Given the description of an element on the screen output the (x, y) to click on. 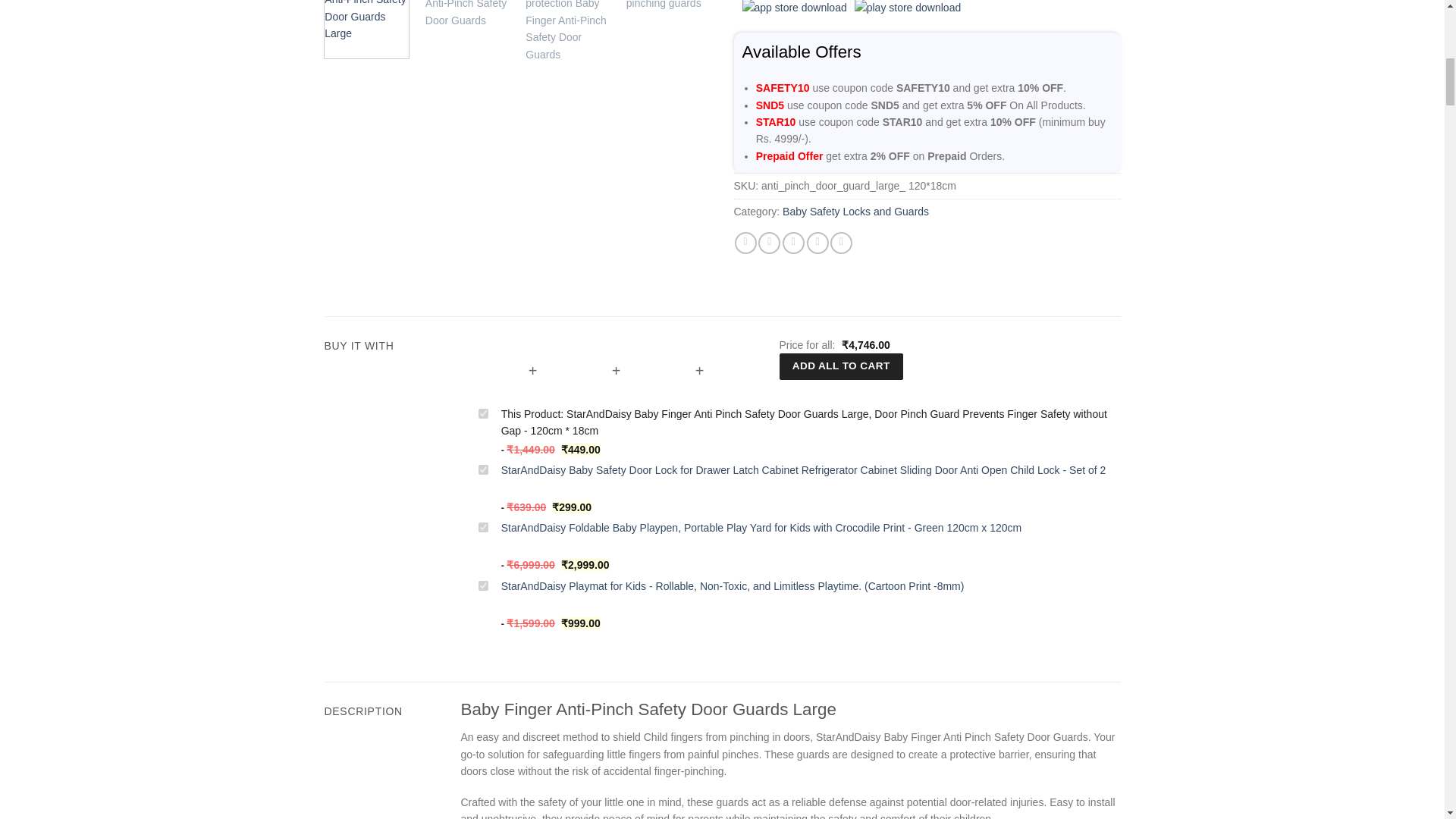
Pin on Pinterest (817, 242)
261436 (483, 527)
219548 (483, 585)
Share on X (769, 242)
Email to a Friend (794, 242)
Share on Facebook (746, 242)
288150 (483, 470)
Share on Tumblr (840, 242)
288828 (483, 412)
